Given the description of an element on the screen output the (x, y) to click on. 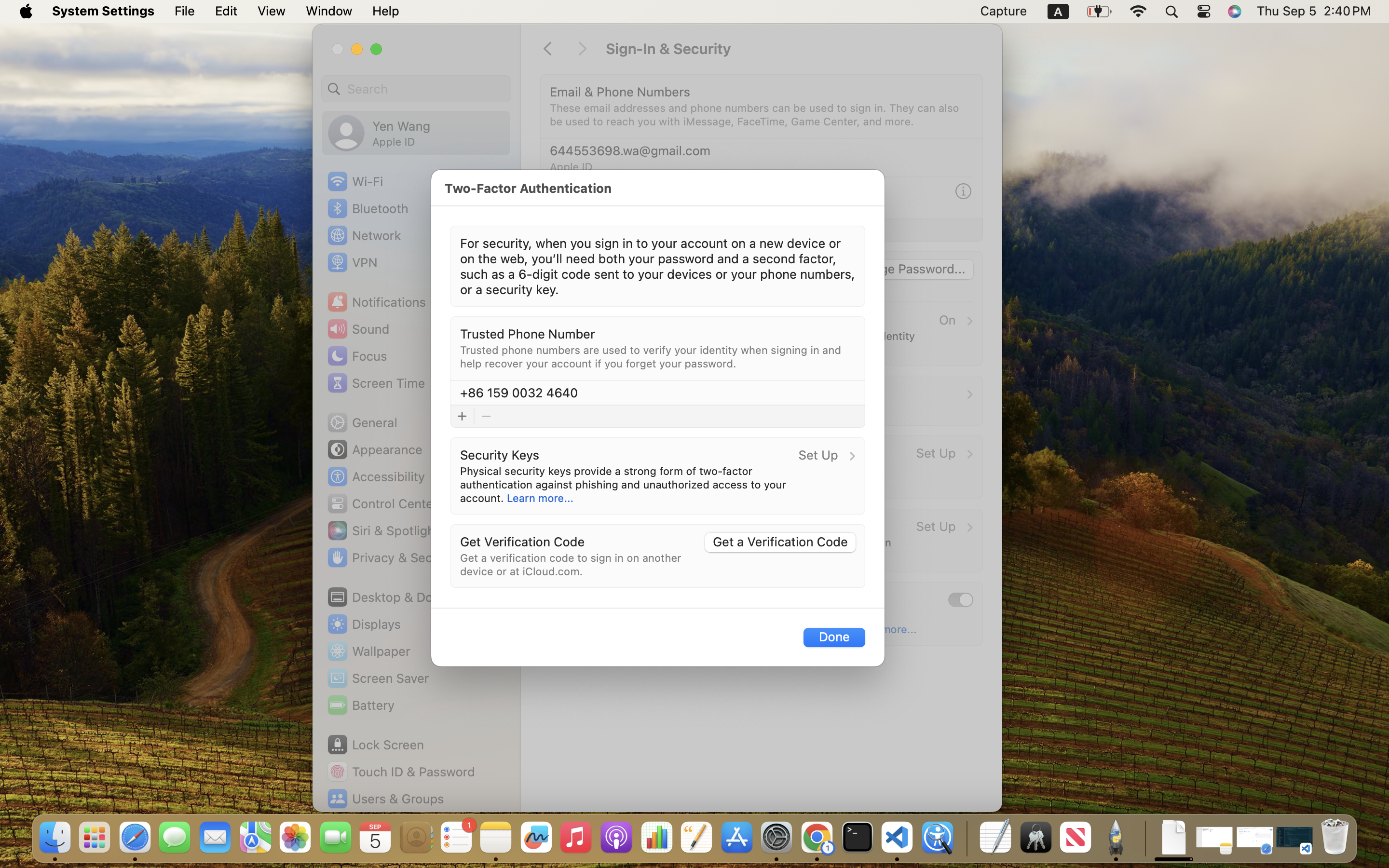
Users & Groups Element type: AXStaticText (384, 798)
Email & Phone Numbers Element type: AXStaticText (619, 91)
General Element type: AXStaticText (361, 422)
Wallpaper Element type: AXStaticText (367, 650)
Siri & Spotlight Element type: AXStaticText (382, 530)
